Given the description of an element on the screen output the (x, y) to click on. 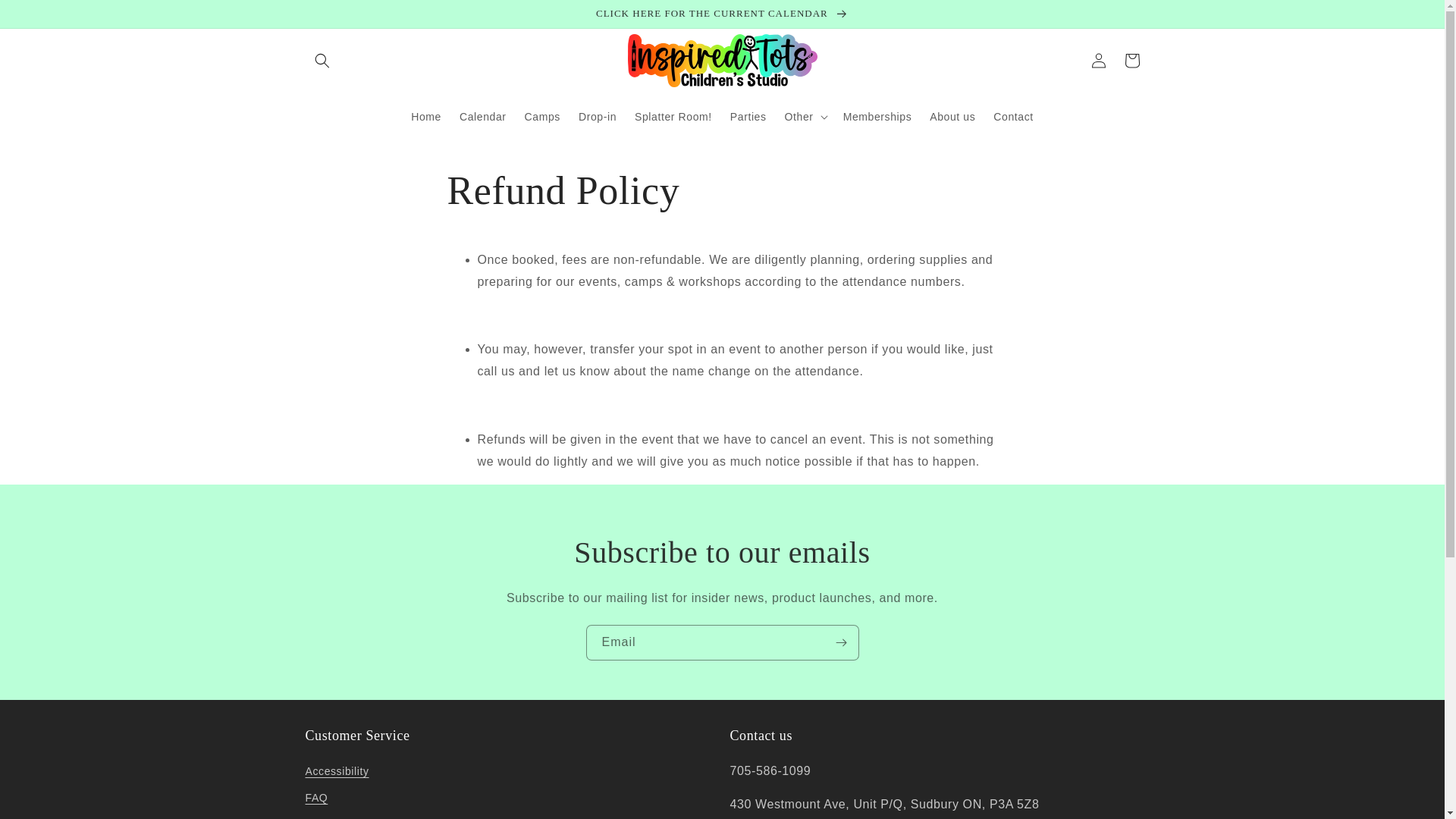
Drop-in (597, 116)
Skip to content (45, 16)
Contact (1013, 116)
Camps (542, 116)
About us (952, 116)
Memberships (877, 116)
Parties (748, 116)
Cart (1131, 60)
Log in (1098, 60)
Splatter Room! (673, 116)
